Given the description of an element on the screen output the (x, y) to click on. 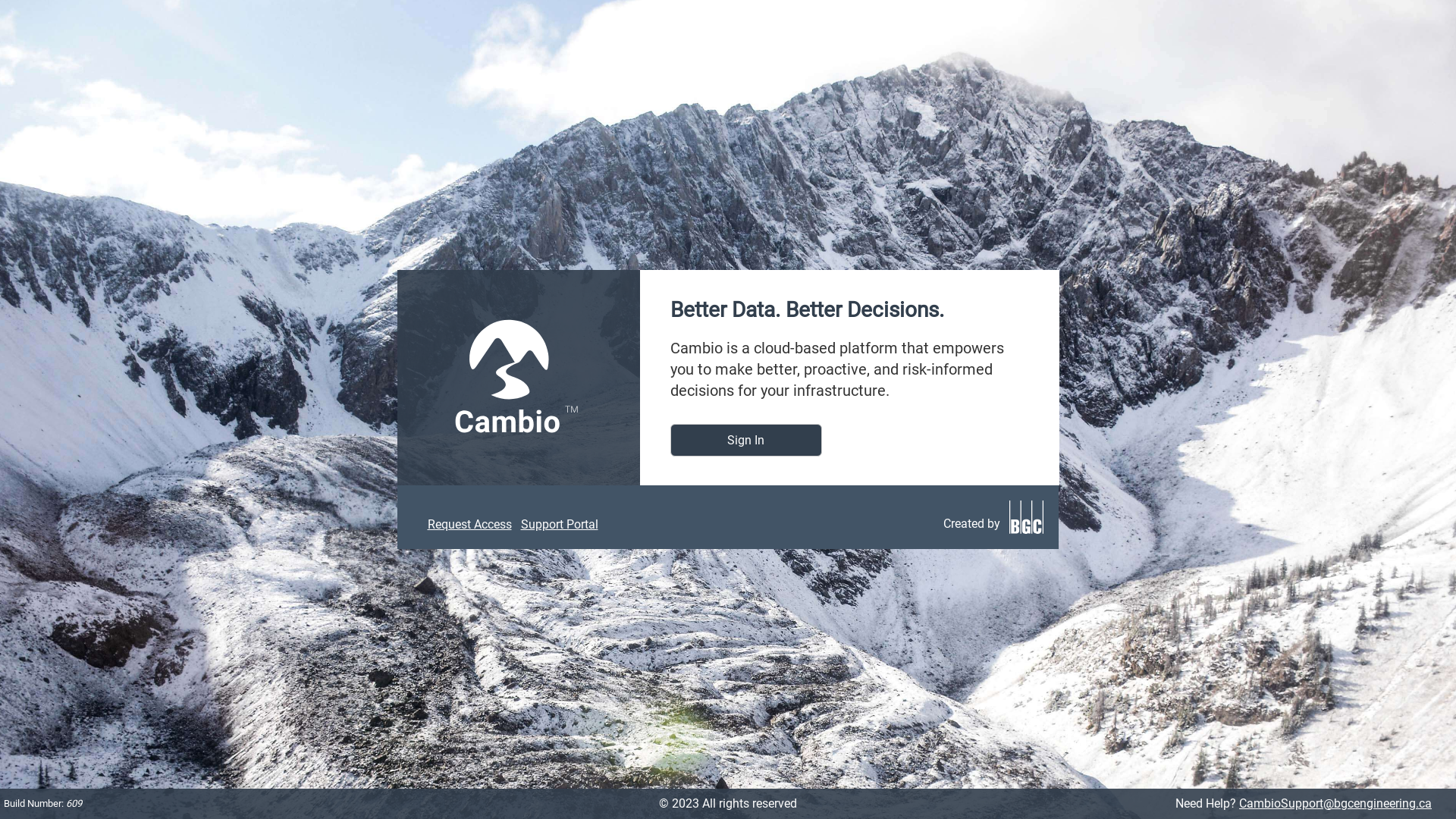
Request Access Element type: text (469, 524)
CambioSupport@bgcengineering.ca Element type: text (1335, 803)
Sign In Element type: text (746, 439)
Support Portal Element type: text (558, 524)
